Given the description of an element on the screen output the (x, y) to click on. 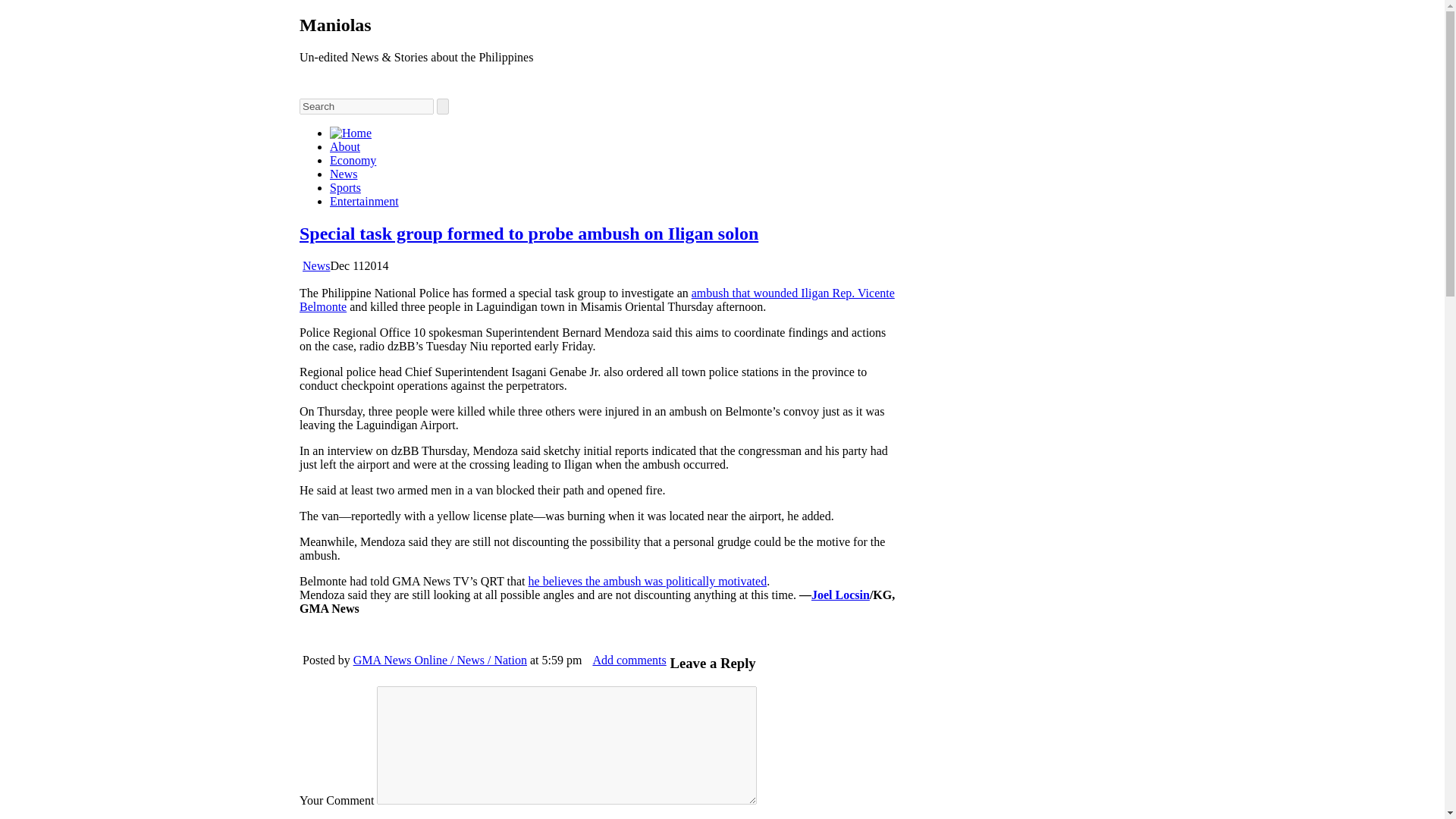
ambush that wounded Iligan Rep. Vicente Belmonte (597, 299)
Entertainment (364, 201)
Special task group formed to probe ambush on Iligan solon (528, 233)
News (316, 265)
Search (366, 106)
Special task group formed to probe ambush on Iligan solon (528, 233)
News (343, 173)
Economy (352, 160)
Sports (345, 187)
Joel Locsin (839, 594)
Maniolas (335, 25)
he believes the ambush was politically motivated (647, 581)
Add comments (628, 659)
About (344, 146)
Search (366, 106)
